Given the description of an element on the screen output the (x, y) to click on. 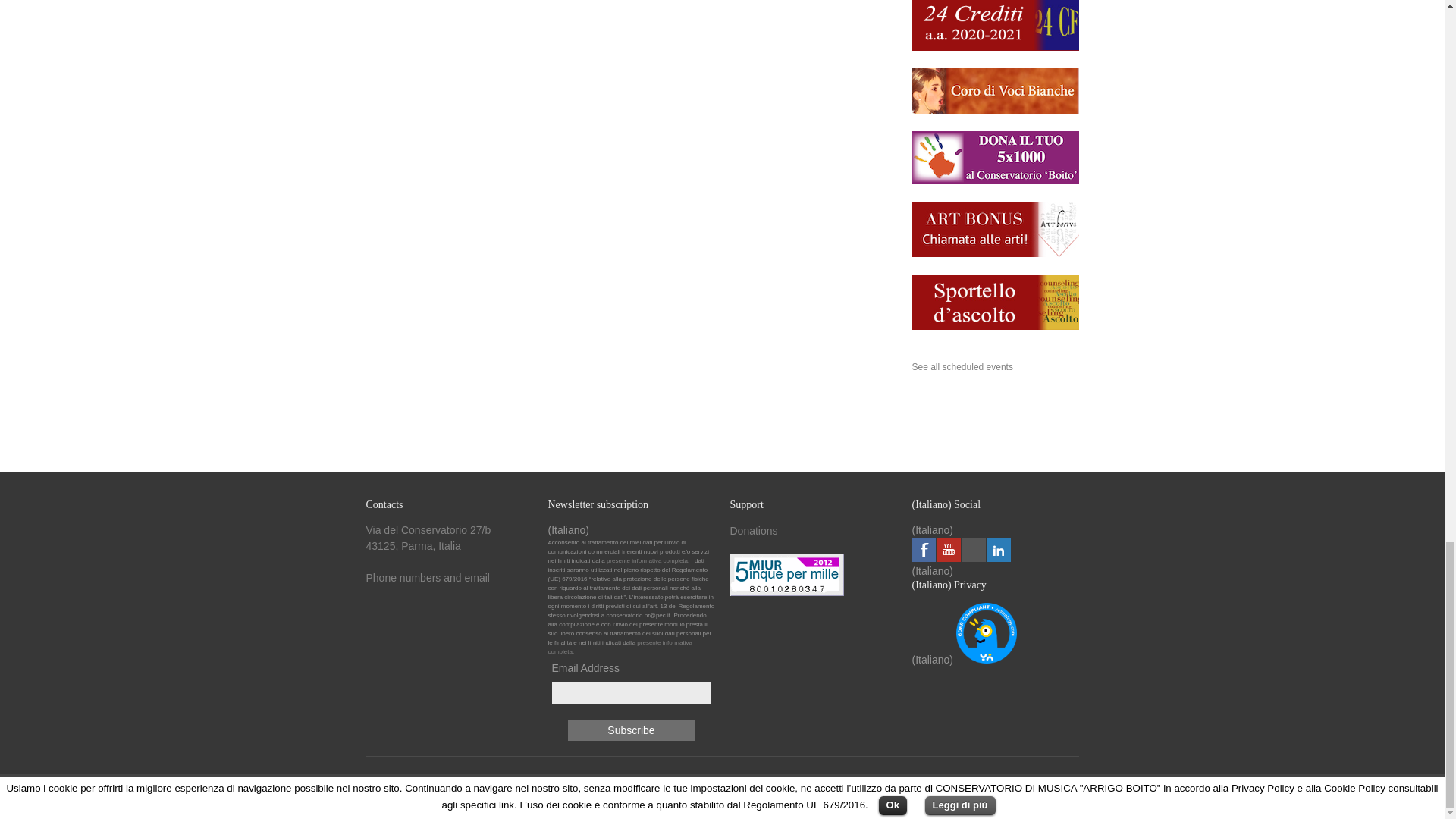
Facebook (922, 549)
Linkedin (998, 549)
Subscribe (630, 730)
Youtube (948, 549)
Coro di voci bianche (994, 110)
Instagram (972, 549)
